Given the description of an element on the screen output the (x, y) to click on. 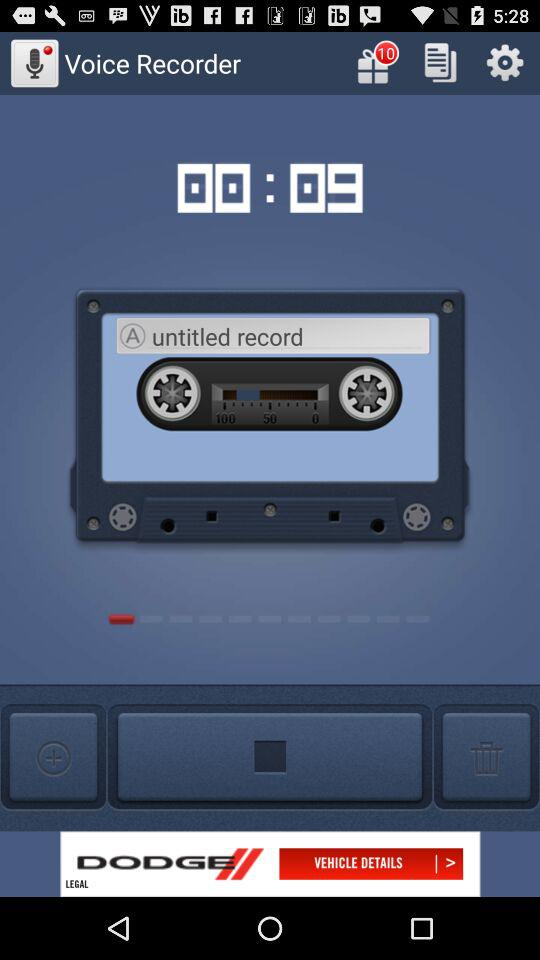
to see more add (270, 864)
